Given the description of an element on the screen output the (x, y) to click on. 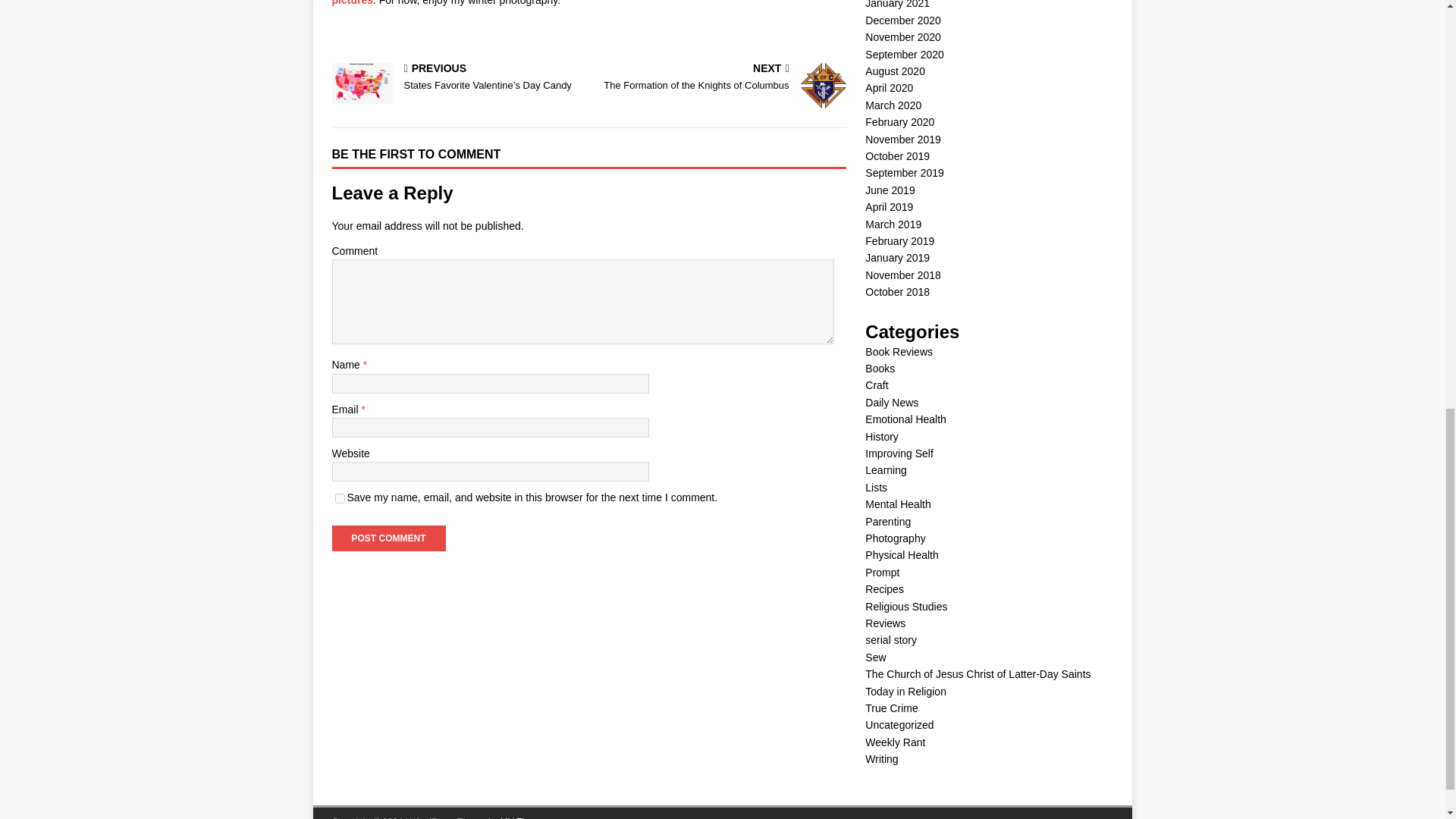
yes (720, 78)
Post Comment (339, 498)
pictures (388, 538)
Post Comment (351, 2)
